Given the description of an element on the screen output the (x, y) to click on. 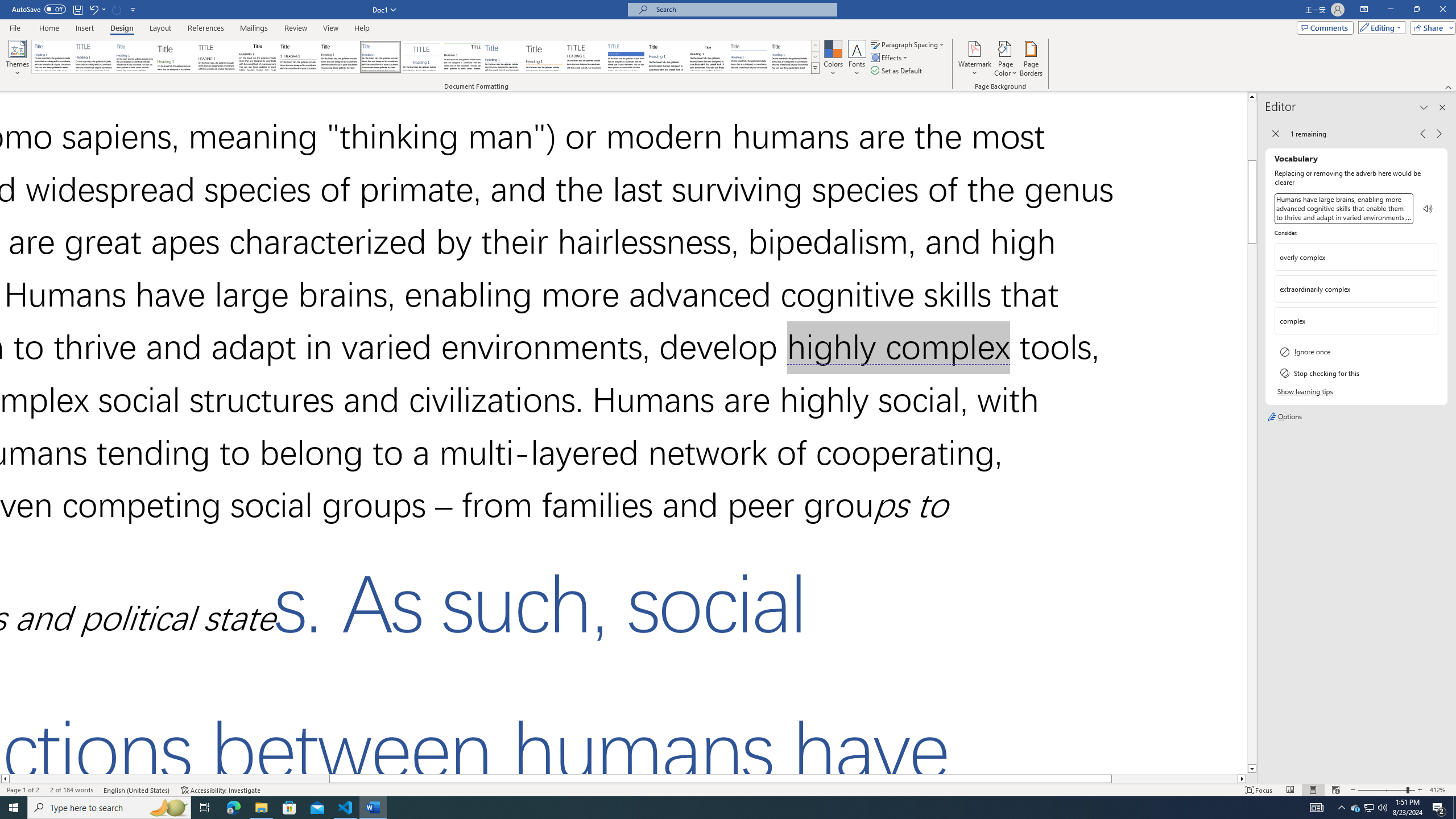
Set as Default (897, 69)
Zoom (1386, 790)
References (205, 28)
Word (666, 56)
Show learning tips (1305, 391)
Restore Down (1416, 9)
Effects (890, 56)
Page 1 content (623, 432)
Back (1275, 133)
System (6, 6)
Close (1442, 9)
Word 2010 (749, 56)
Word 2003 (707, 56)
Class: NetUIScrollBar (1251, 432)
File Tab (15, 27)
